Given the description of an element on the screen output the (x, y) to click on. 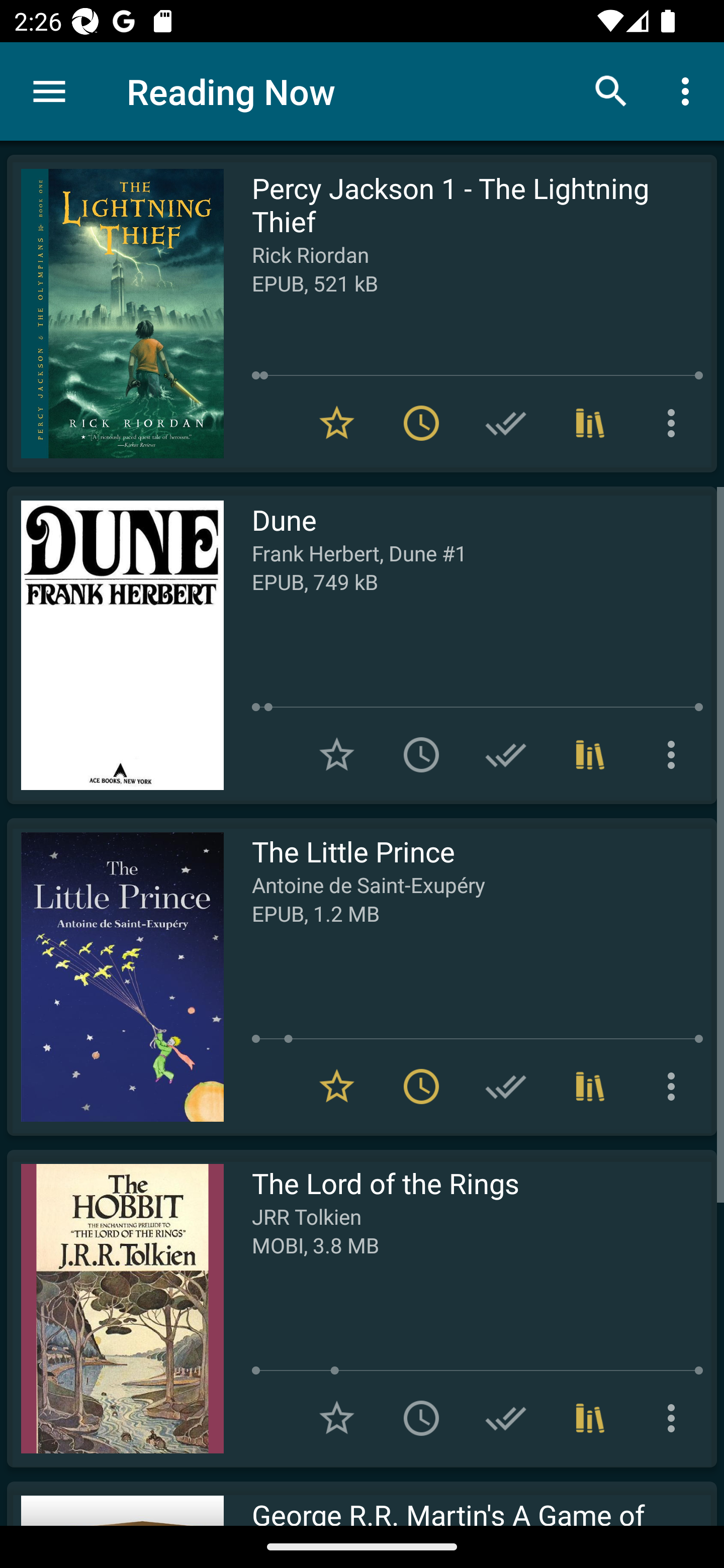
Menu (49, 91)
Search books & documents (611, 90)
More options (688, 90)
Read Percy Jackson 1 - The Lightning Thief (115, 313)
Remove from Favorites (336, 423)
Remove from To read (421, 423)
Add to Have read (505, 423)
Collections (1) (590, 423)
More options (674, 423)
Read Dune (115, 645)
Add to Favorites (336, 753)
Add to To read (421, 753)
Add to Have read (505, 753)
Collections (1) (590, 753)
More options (674, 753)
Read The Little Prince (115, 976)
Remove from Favorites (336, 1086)
Remove from To read (421, 1086)
Add to Have read (505, 1086)
Collections (1) (590, 1086)
More options (674, 1086)
Read The Lord of the Rings (115, 1308)
Add to Favorites (336, 1417)
Add to To read (421, 1417)
Add to Have read (505, 1417)
Collections (1) (590, 1417)
More options (674, 1417)
